Given the description of an element on the screen output the (x, y) to click on. 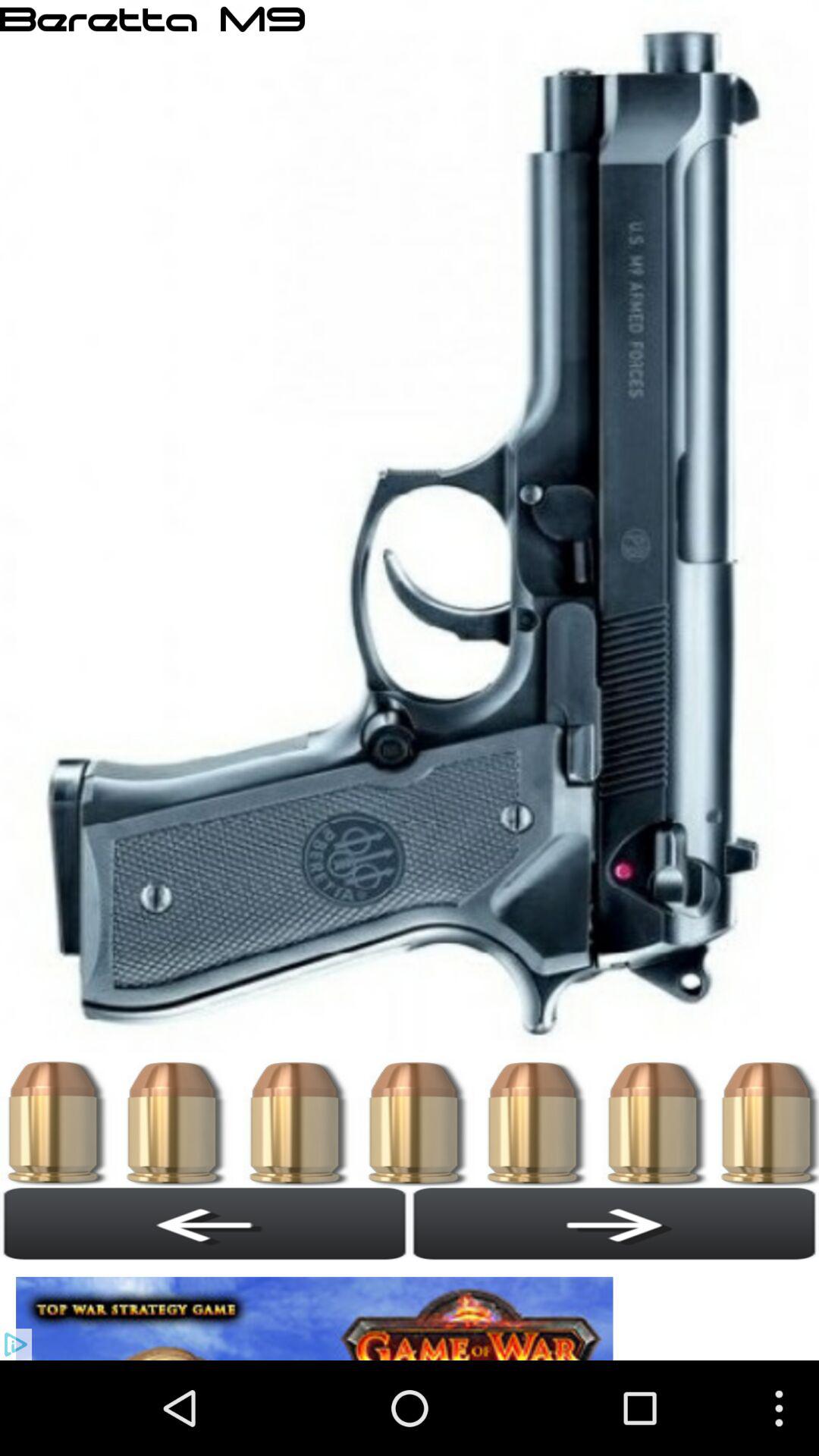
select advertisement (318, 1310)
